Given the description of an element on the screen output the (x, y) to click on. 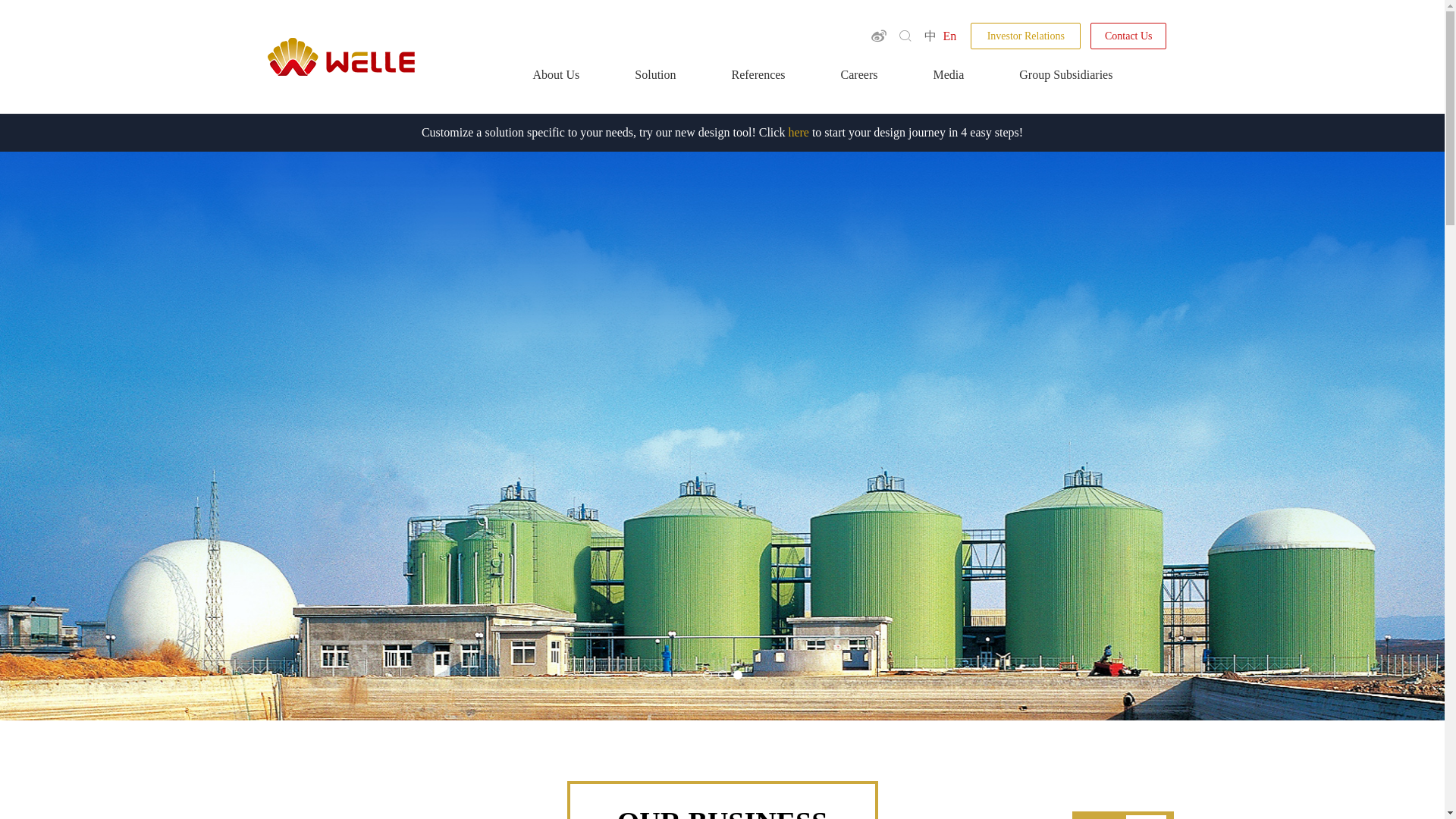
Solution (654, 90)
Contact Us (1128, 35)
Investor Relations (1025, 35)
References (759, 90)
About Us (555, 90)
Contact Us (1128, 35)
Investor (1025, 35)
Group Subsidiaries (1065, 90)
